Given the description of an element on the screen output the (x, y) to click on. 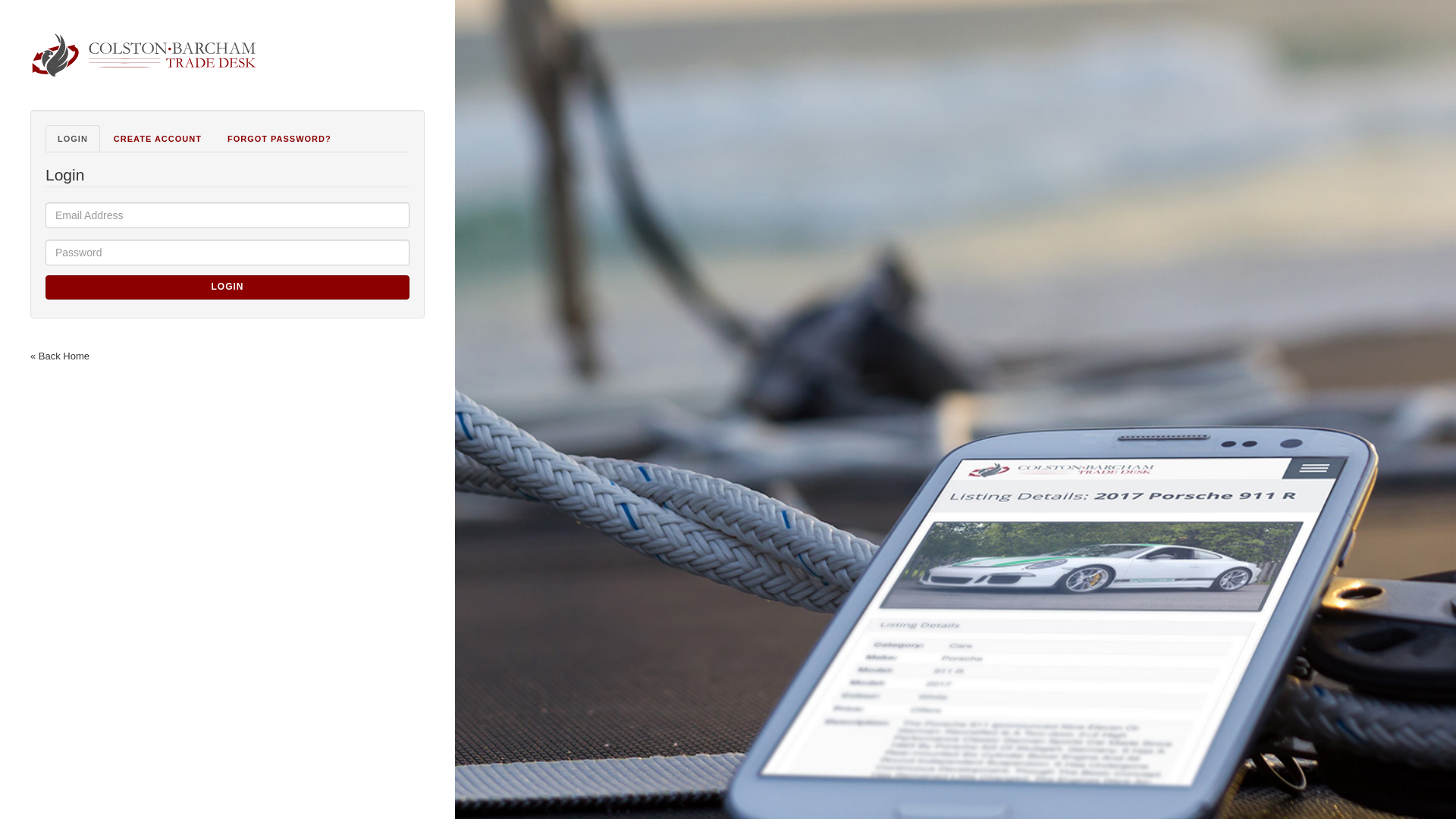
CREATE ACCOUNT (157, 138)
FORGOT PASSWORD? (279, 138)
LOGIN (72, 138)
LOGIN (227, 286)
